Given the description of an element on the screen output the (x, y) to click on. 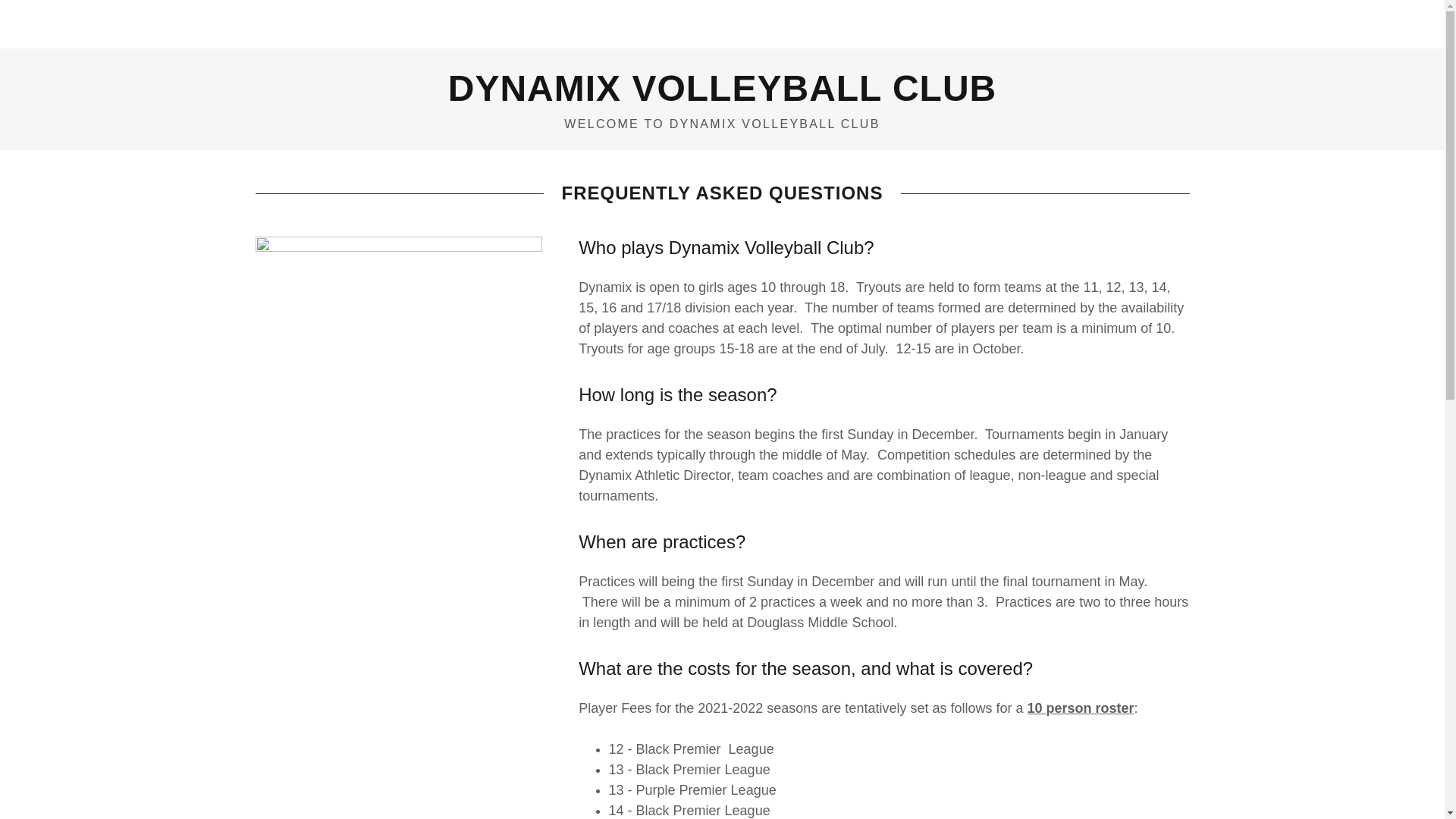
Dynamix Volleyball Club (721, 96)
